Given the description of an element on the screen output the (x, y) to click on. 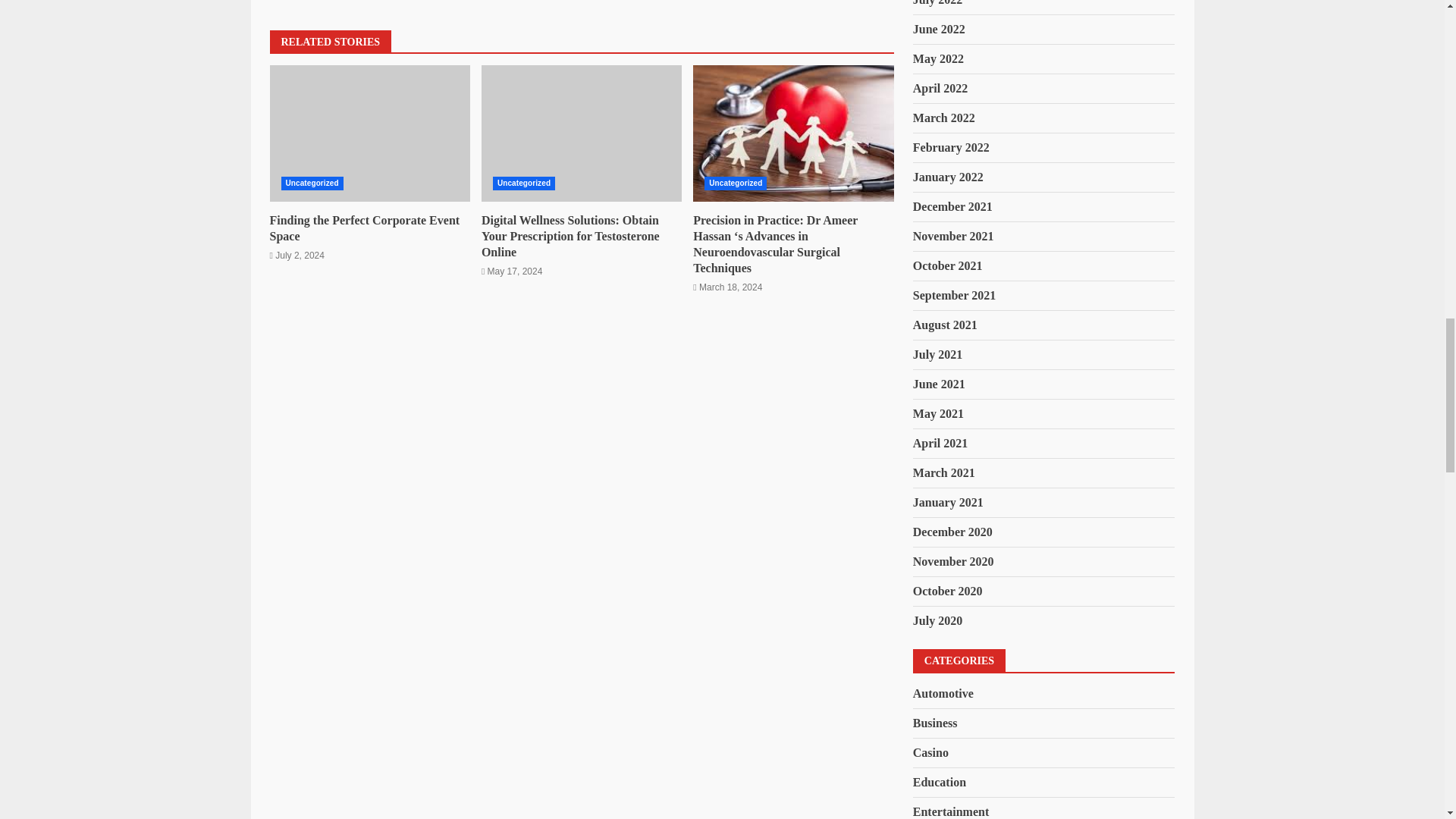
Uncategorized (311, 183)
Finding the Perfect Corporate Event Space (369, 133)
Uncategorized (523, 183)
Finding the Perfect Corporate Event Space (364, 227)
Uncategorized (735, 183)
